Given the description of an element on the screen output the (x, y) to click on. 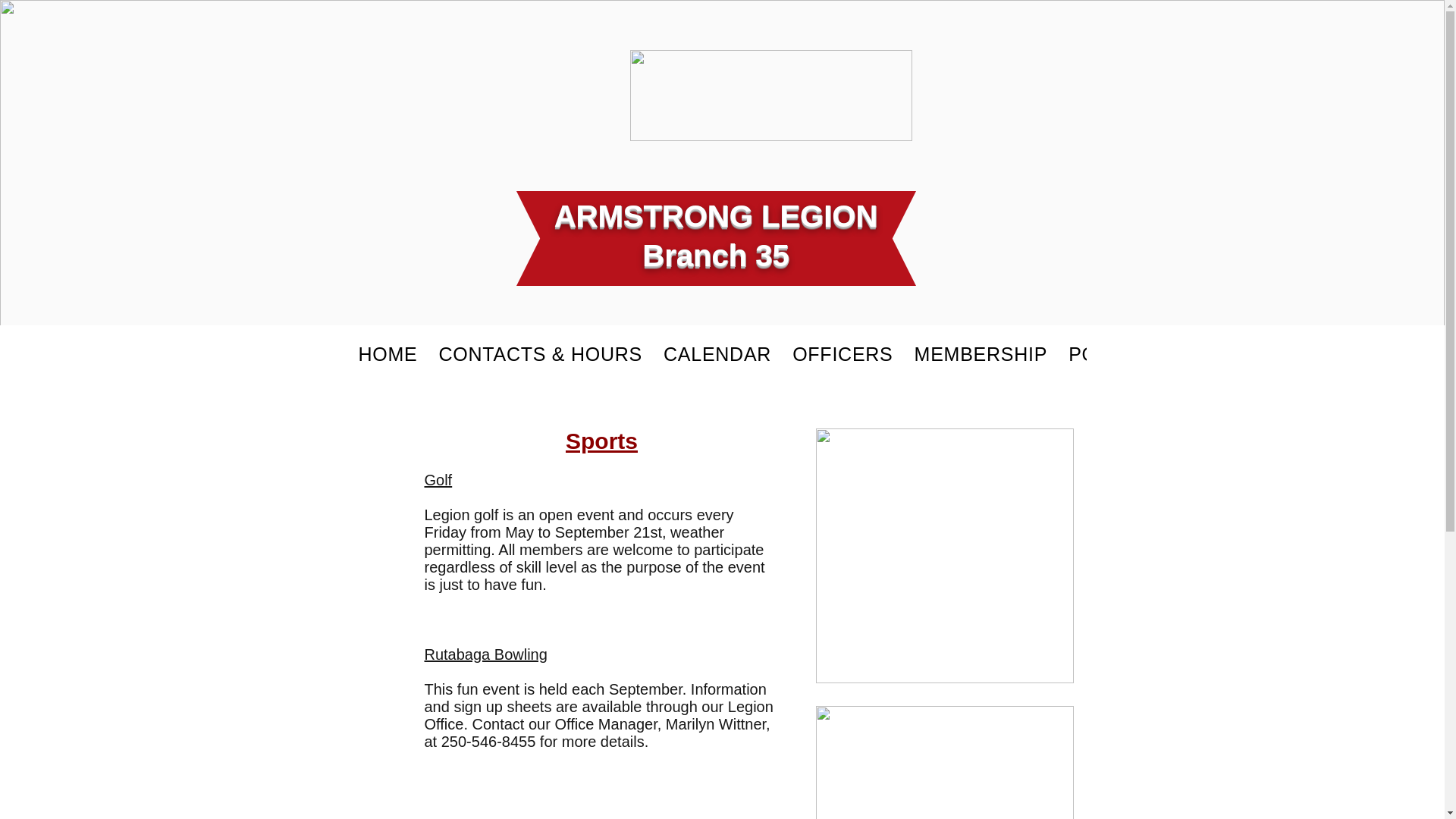
CALENDAR (717, 353)
POPPY CAMPAIGN (1157, 353)
HOME (387, 353)
MEMBERSHIP (981, 353)
ARMSTRONG LEGION (715, 215)
OFFICERS (841, 353)
